Given the description of an element on the screen output the (x, y) to click on. 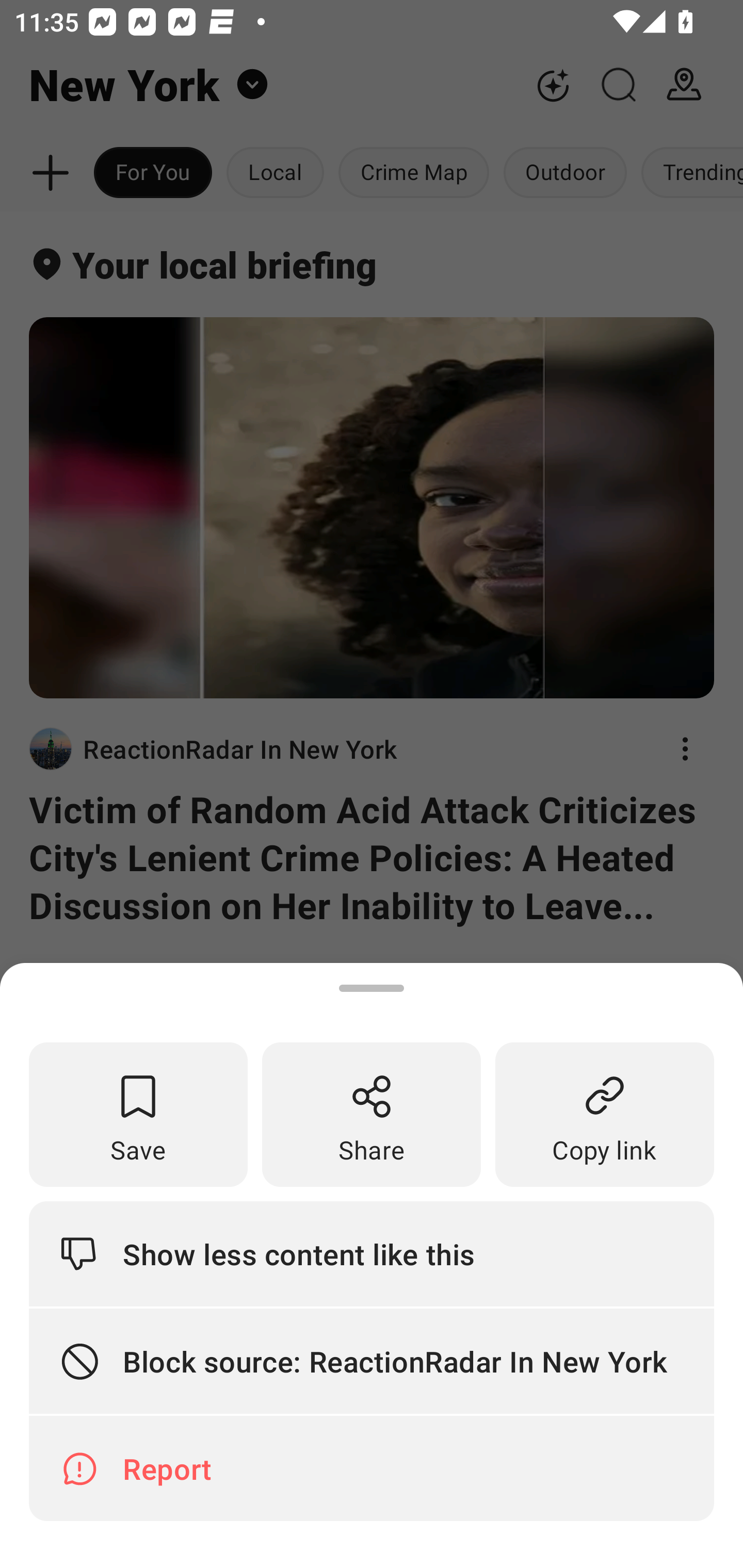
Save (137, 1114)
Share (371, 1114)
Copy link (604, 1114)
Show less content like this (371, 1253)
Block source: ReactionRadar In New York (371, 1361)
Report (371, 1467)
